Given the description of an element on the screen output the (x, y) to click on. 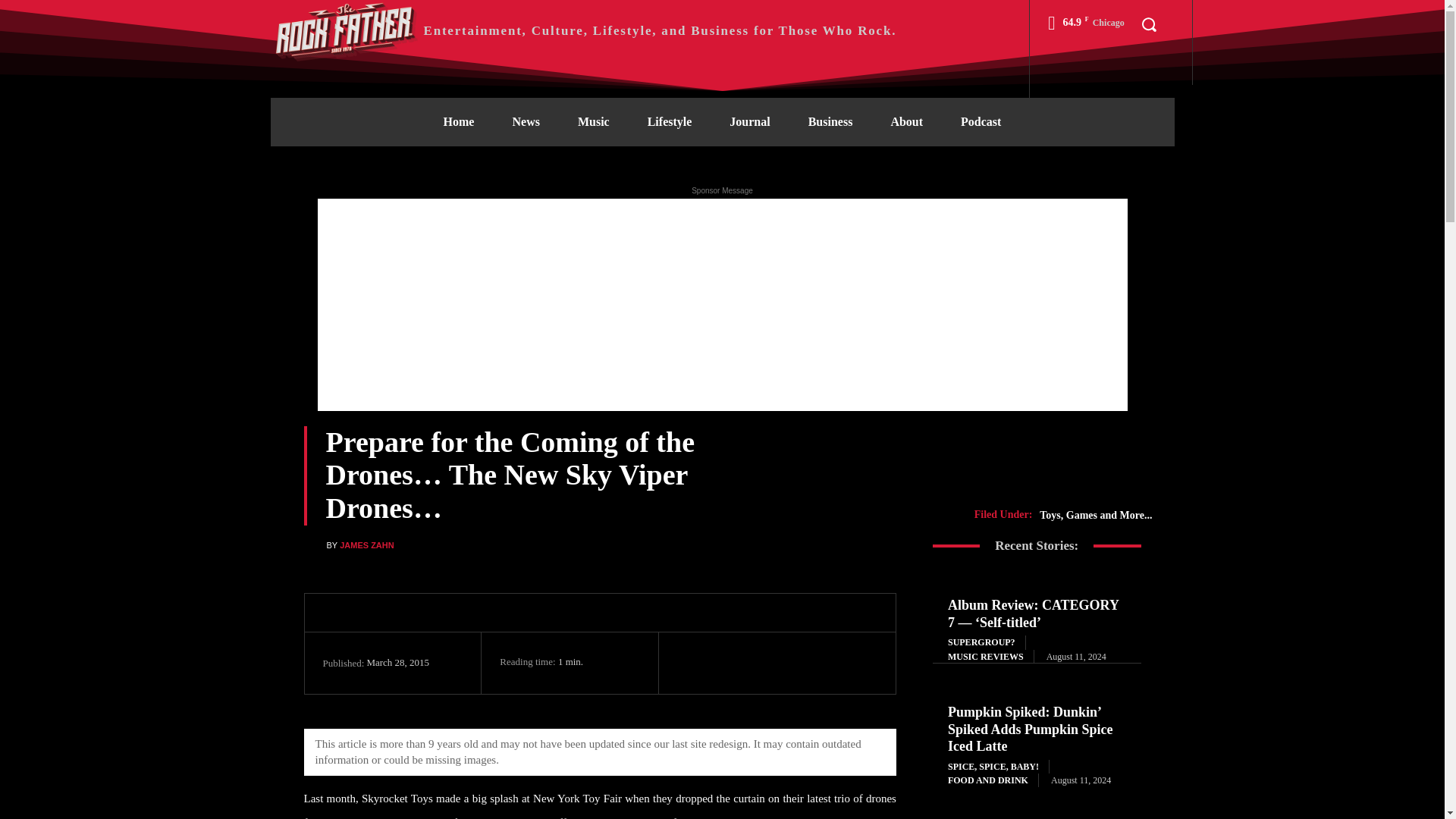
The Rock Father (582, 30)
James Zahn (314, 545)
Lifestyle (669, 121)
The Rock Father (345, 30)
Music (593, 121)
News (525, 121)
Home (459, 121)
